Given the description of an element on the screen output the (x, y) to click on. 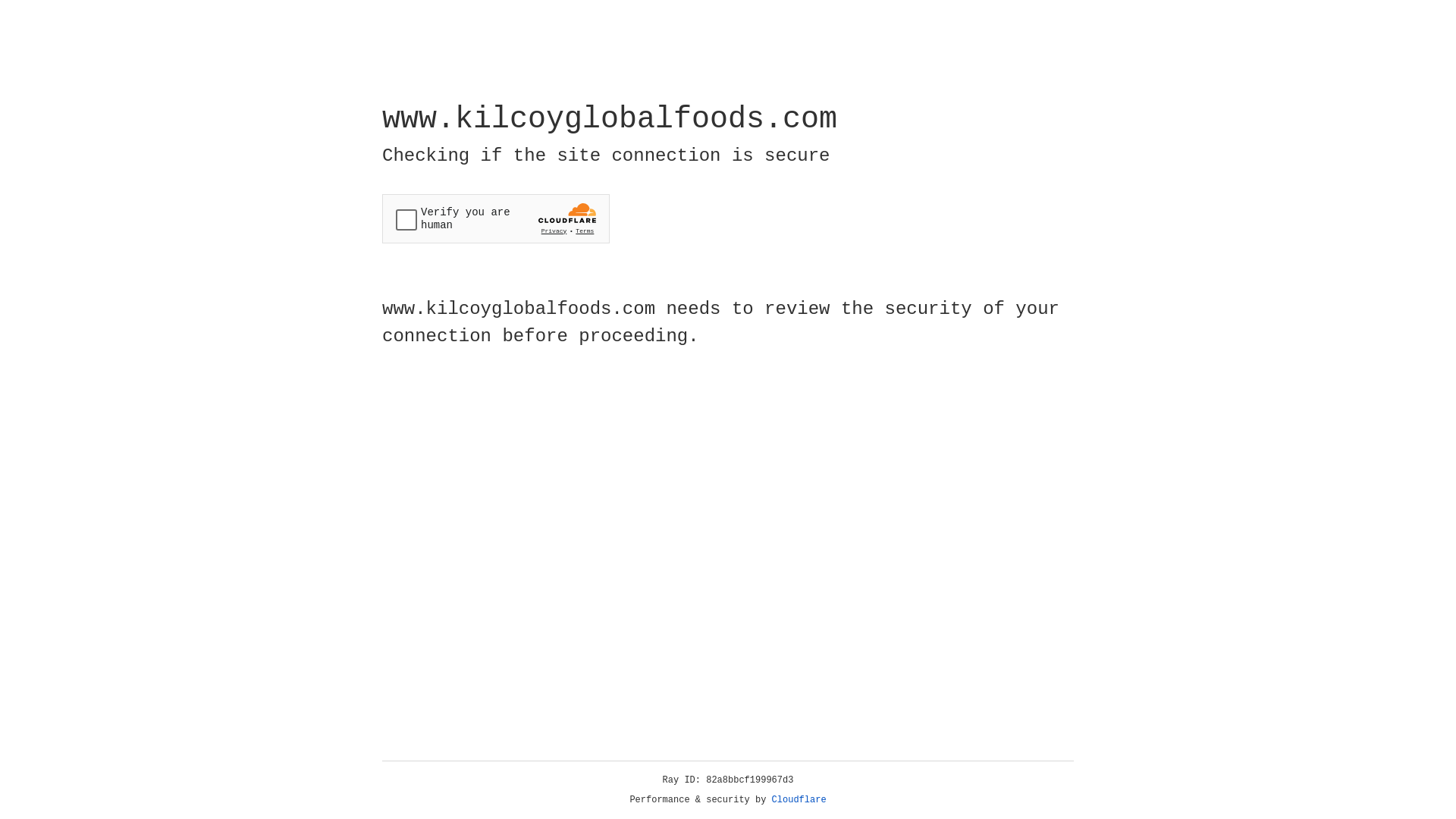
Cloudflare Element type: text (798, 799)
Widget containing a Cloudflare security challenge Element type: hover (495, 218)
